Given the description of an element on the screen output the (x, y) to click on. 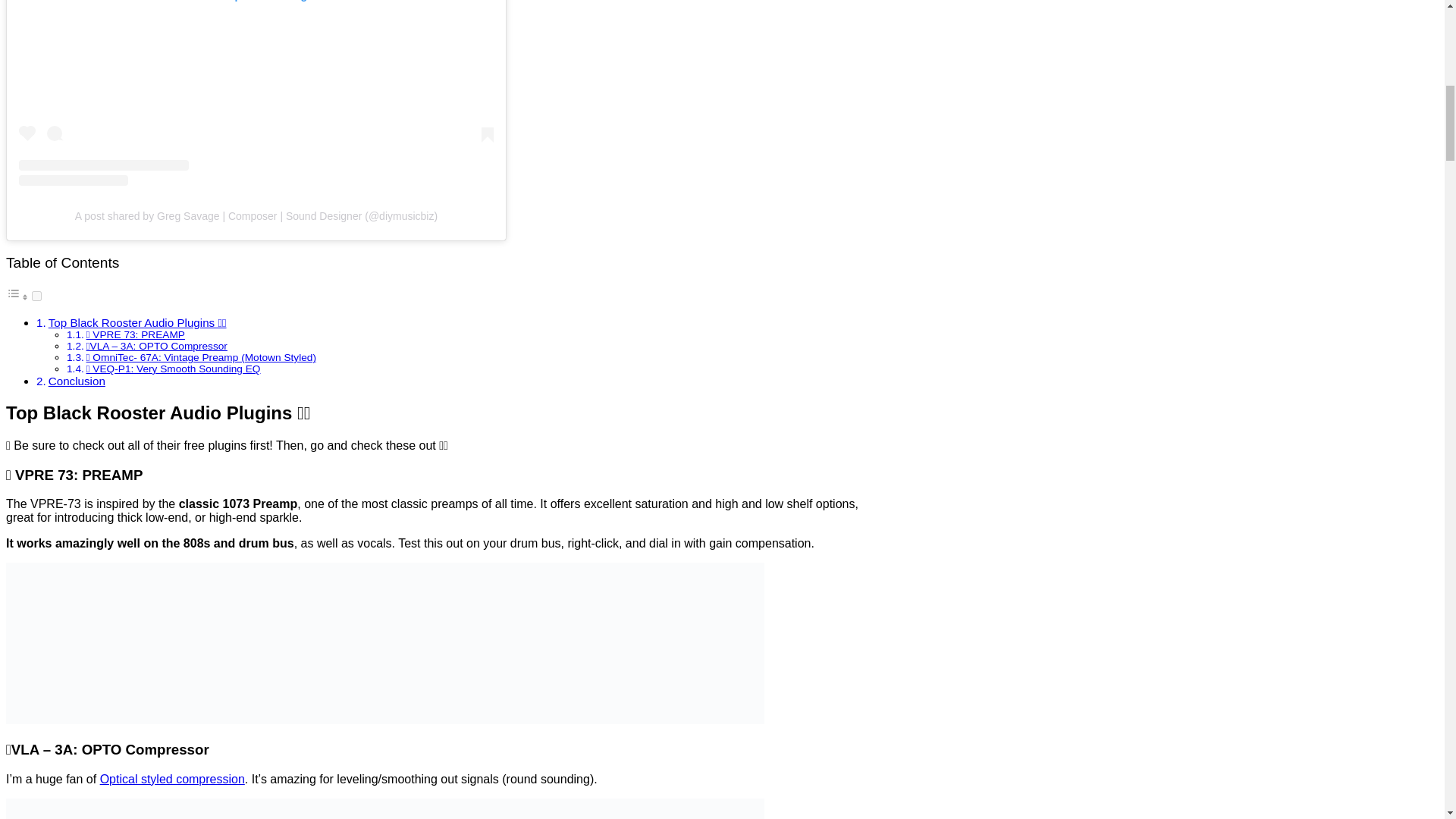
Conclusion (76, 380)
Optical styled compression (172, 779)
Conclusion (76, 380)
View this post on Instagram (255, 92)
on (37, 296)
